Given the description of an element on the screen output the (x, y) to click on. 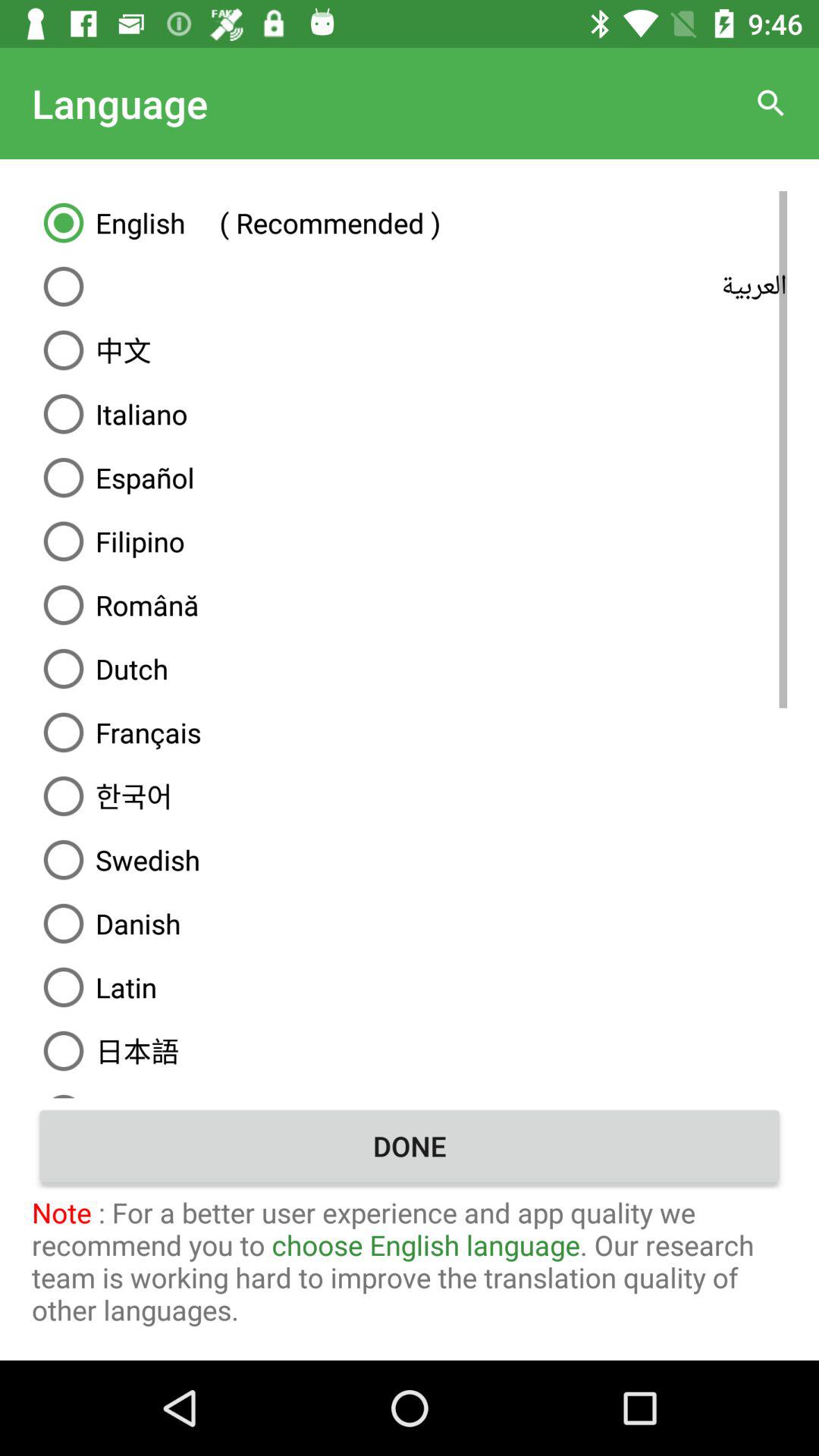
select the icon below the filipino (409, 605)
